Given the description of an element on the screen output the (x, y) to click on. 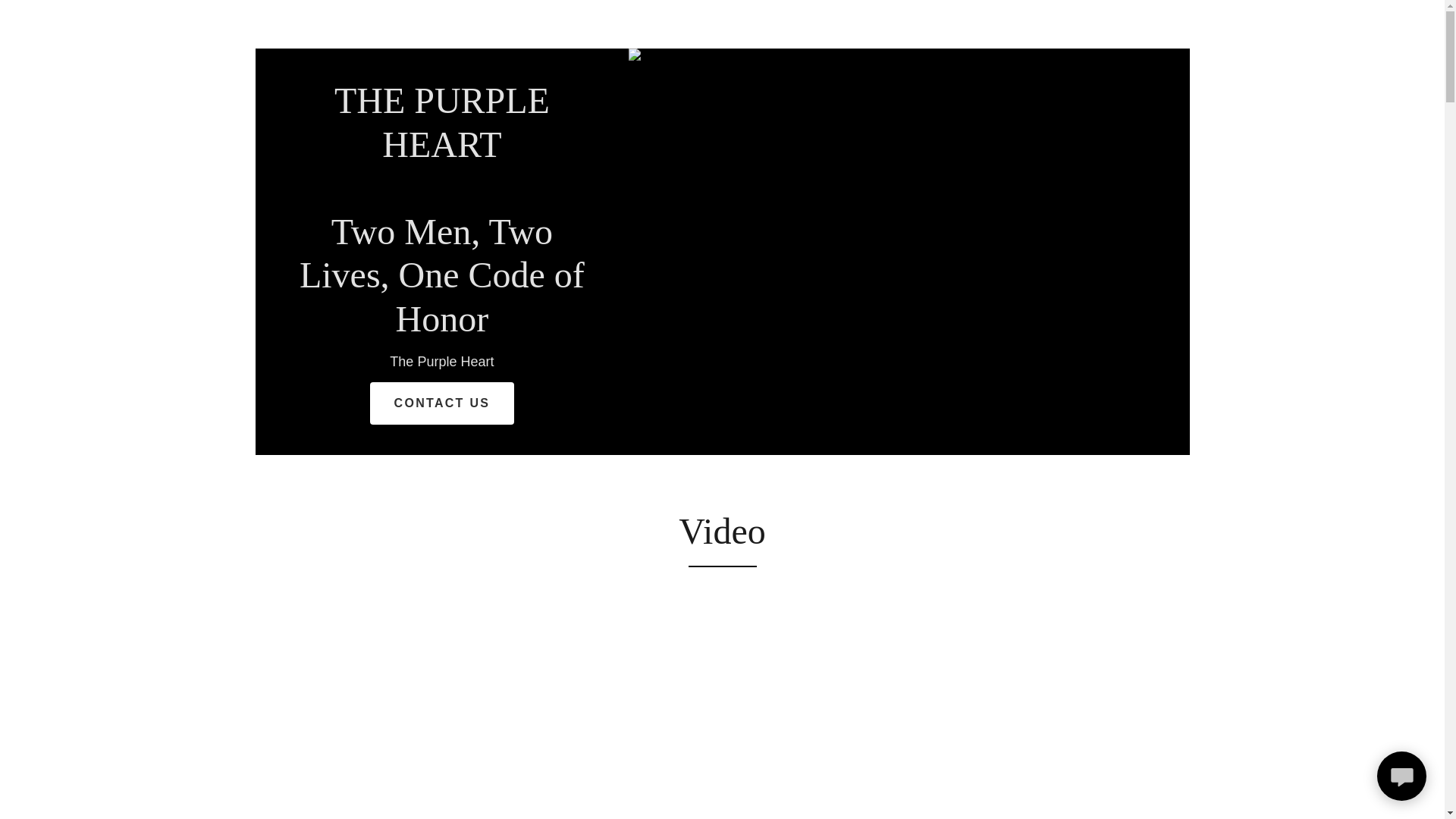
CONTACT US (441, 326)
